Given the description of an element on the screen output the (x, y) to click on. 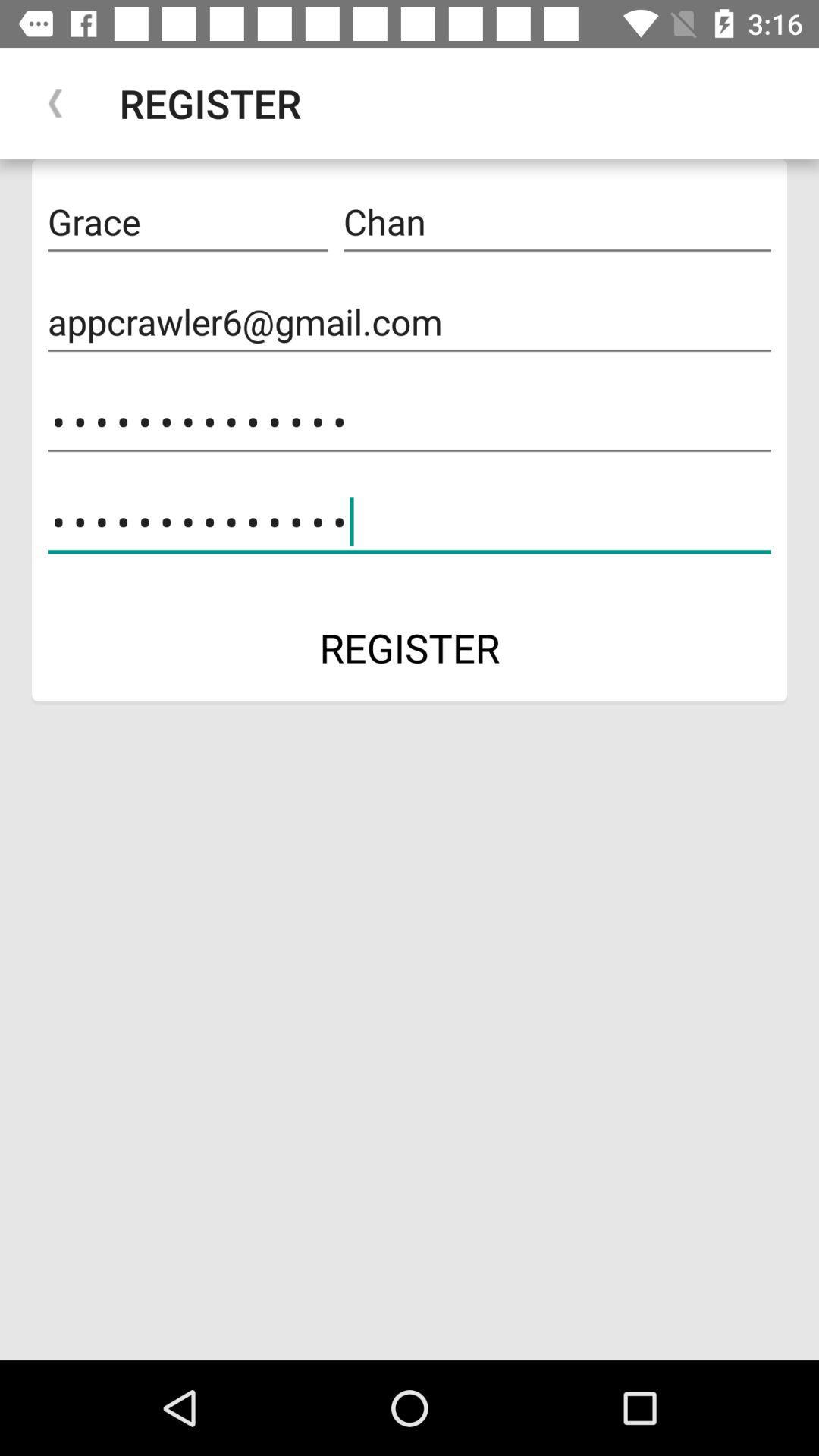
jump to grace (187, 222)
